Given the description of an element on the screen output the (x, y) to click on. 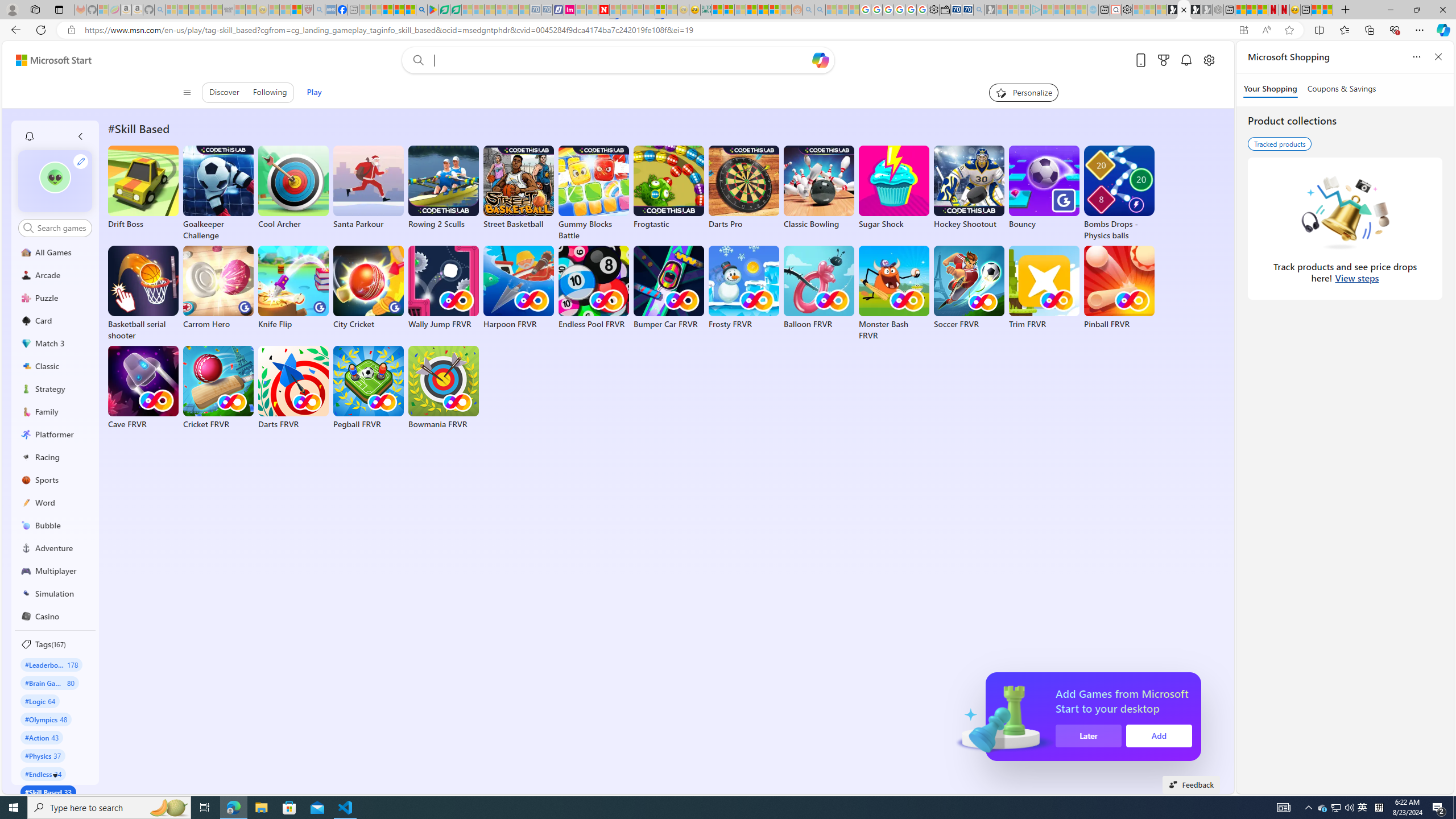
Pinball FRVR (1119, 287)
Santa Parkour (368, 187)
""'s avatar (55, 177)
City Cricket (368, 287)
Endless Pool FRVR (593, 287)
#Endless 34 (43, 773)
Basketball serial shooter (143, 293)
Class: control icon-only (186, 92)
#Physics 37 (42, 755)
Rowing 2 Sculls (443, 187)
